Given the description of an element on the screen output the (x, y) to click on. 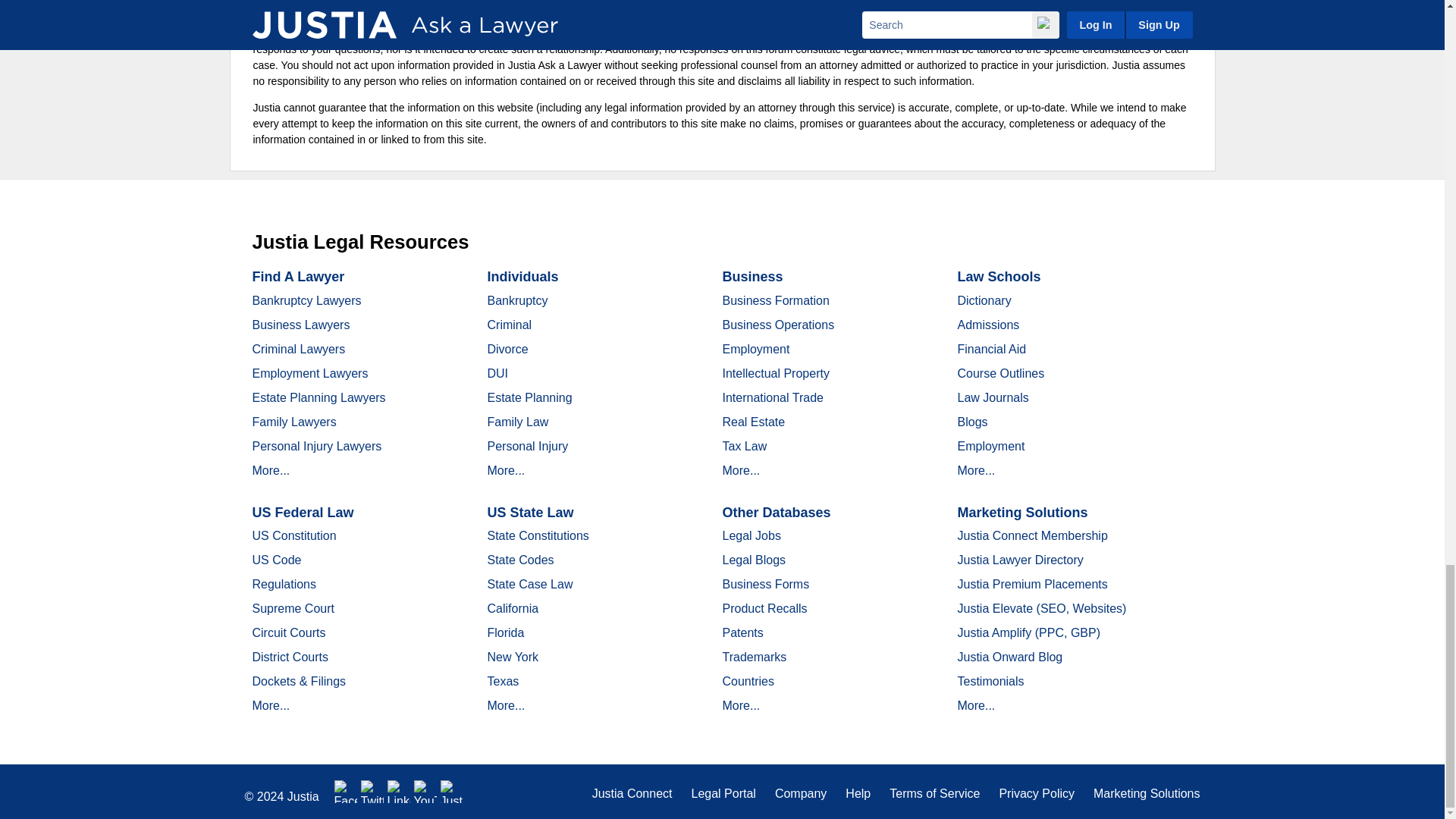
Justia Lawyer Directory (452, 791)
Facebook (345, 791)
LinkedIn (398, 791)
Twitter (372, 791)
YouTube (424, 791)
